Given the description of an element on the screen output the (x, y) to click on. 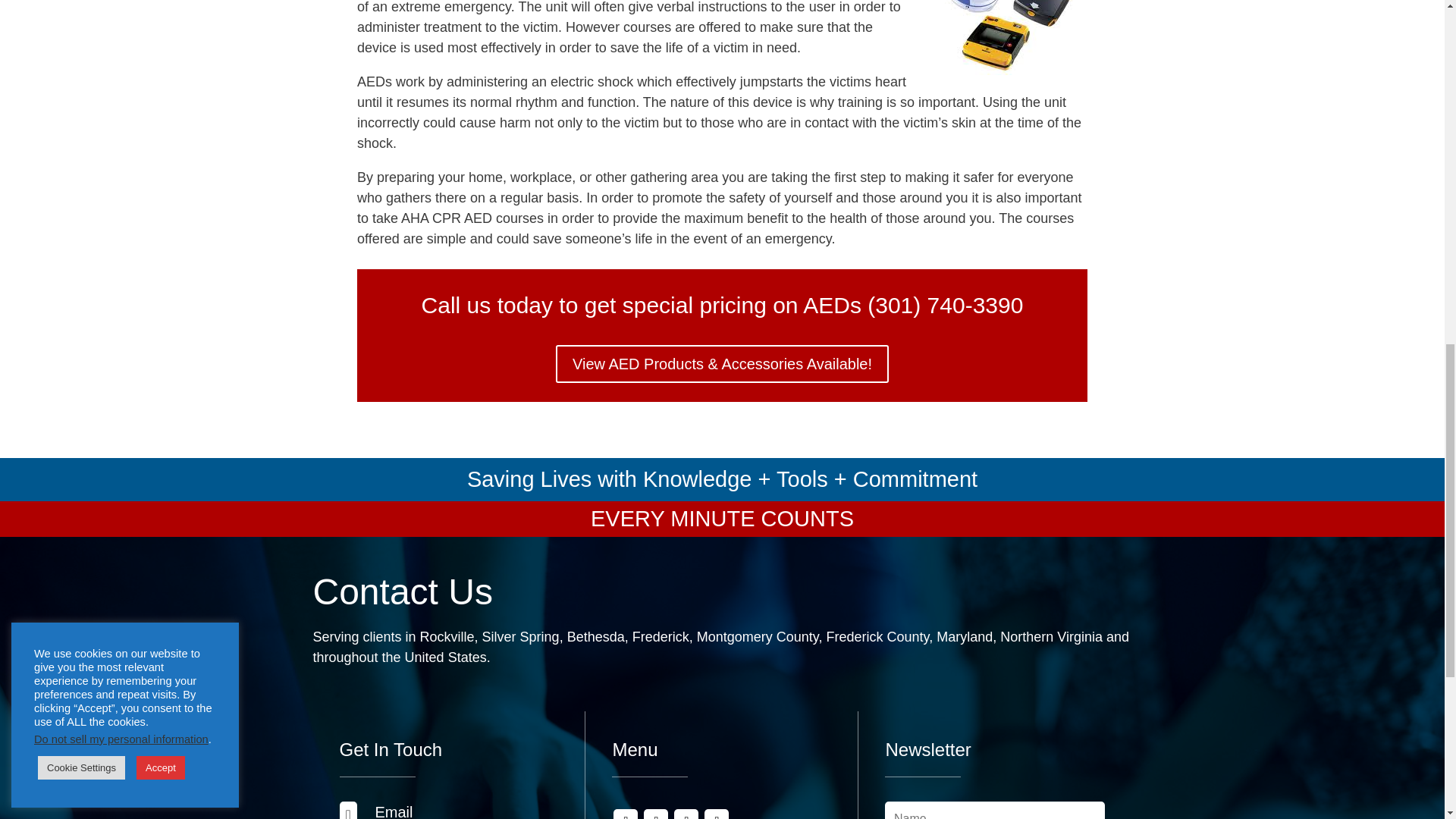
Follow on Instagram (716, 814)
Follow on X (655, 814)
Follow on LinkedIn (686, 814)
Follow on Facebook (624, 814)
